Given the description of an element on the screen output the (x, y) to click on. 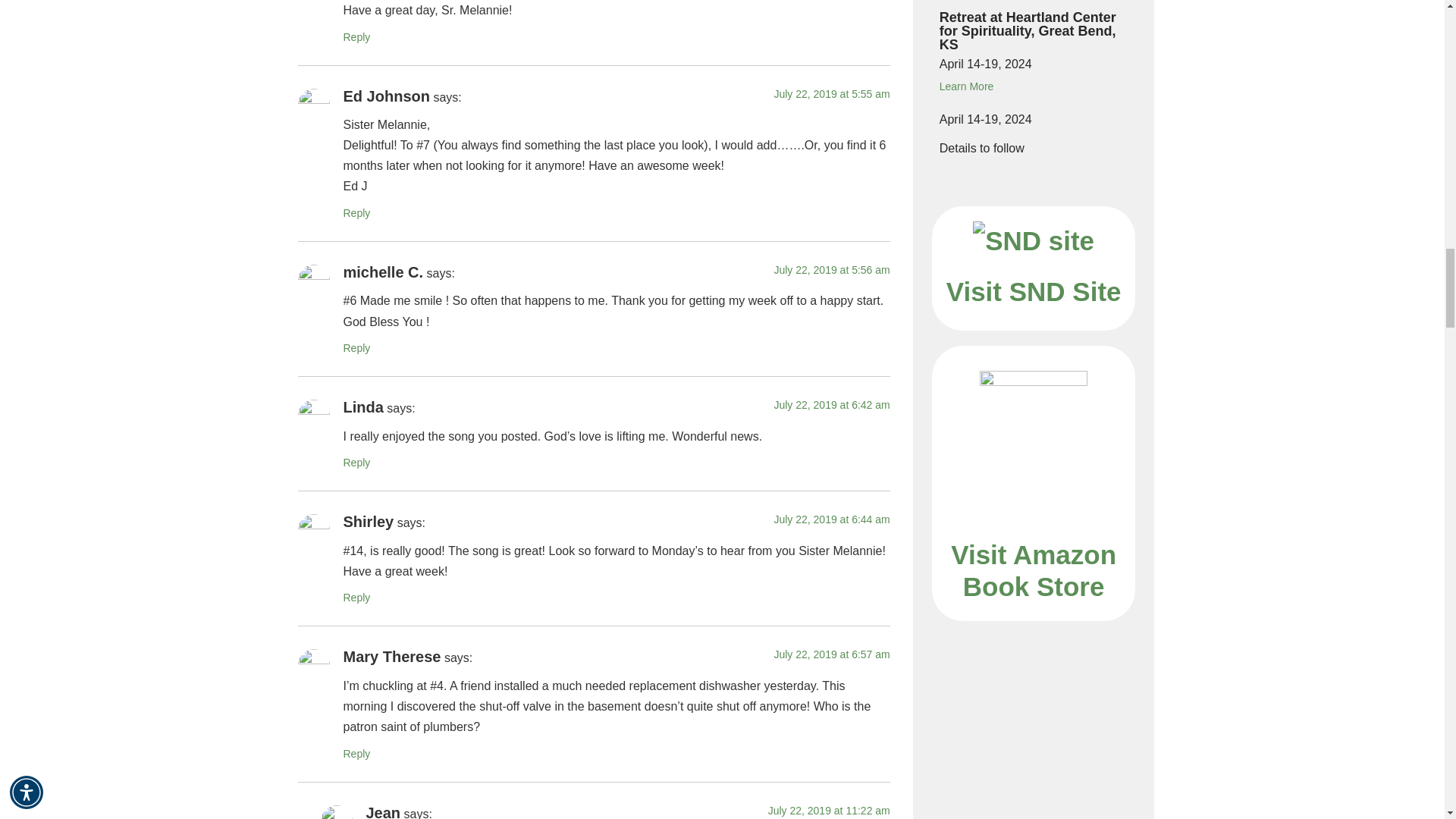
July 22, 2019 at 11:22 am (828, 810)
Reply (355, 462)
July 22, 2019 at 6:42 am (831, 404)
July 22, 2019 at 6:57 am (831, 654)
Reply (355, 347)
Reply (355, 753)
Reply (355, 597)
Reply (355, 213)
July 22, 2019 at 5:55 am (831, 93)
Reply (355, 37)
